Given the description of an element on the screen output the (x, y) to click on. 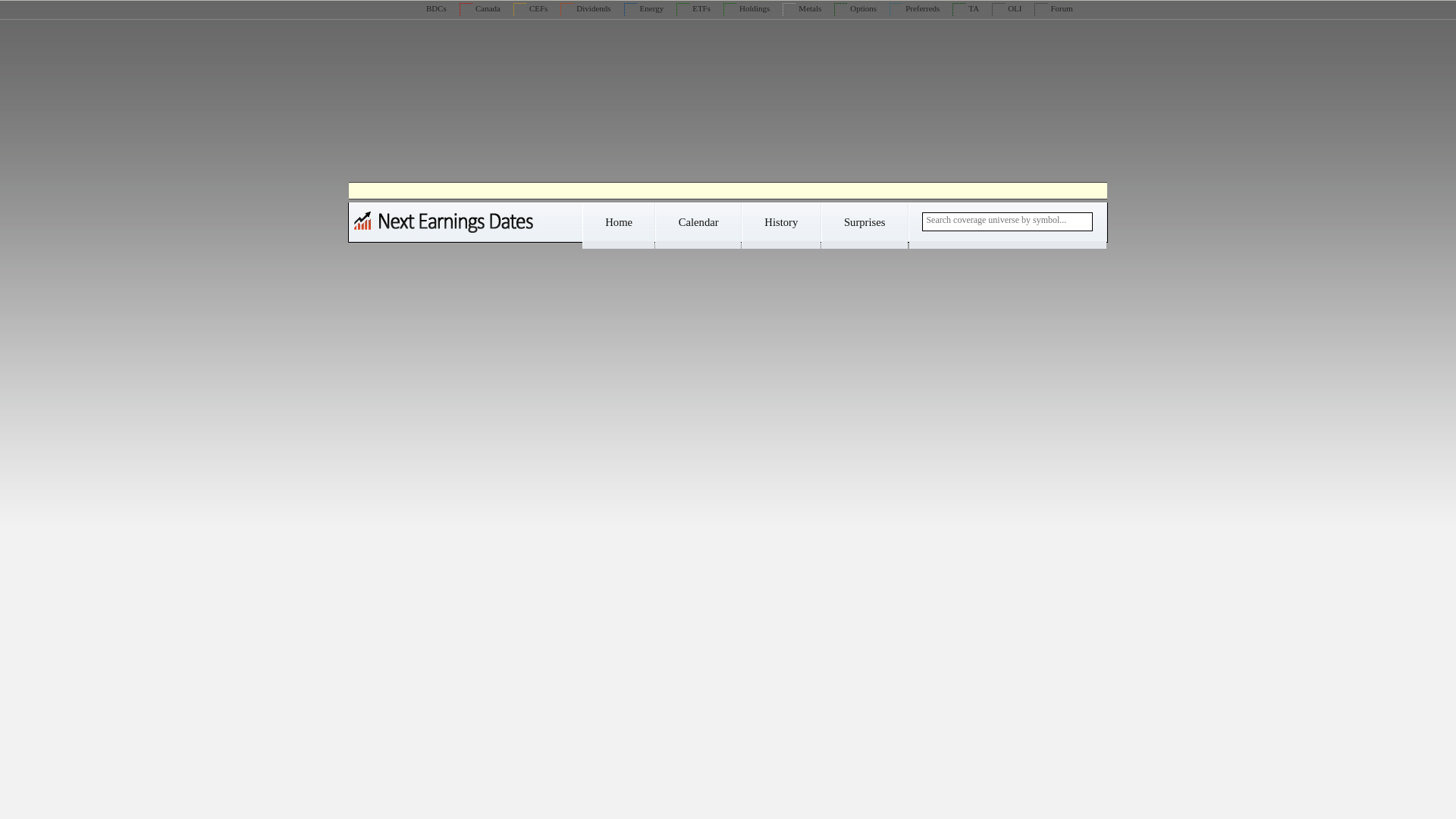
Options (855, 8)
The Online Investor (1006, 8)
Holdings Channel (746, 8)
Forum (1052, 8)
ETF Channel (693, 8)
Energy (643, 8)
BDC Investor (428, 8)
OLI (1006, 8)
Metals Channel (802, 8)
CEFs (530, 8)
